Given the description of an element on the screen output the (x, y) to click on. 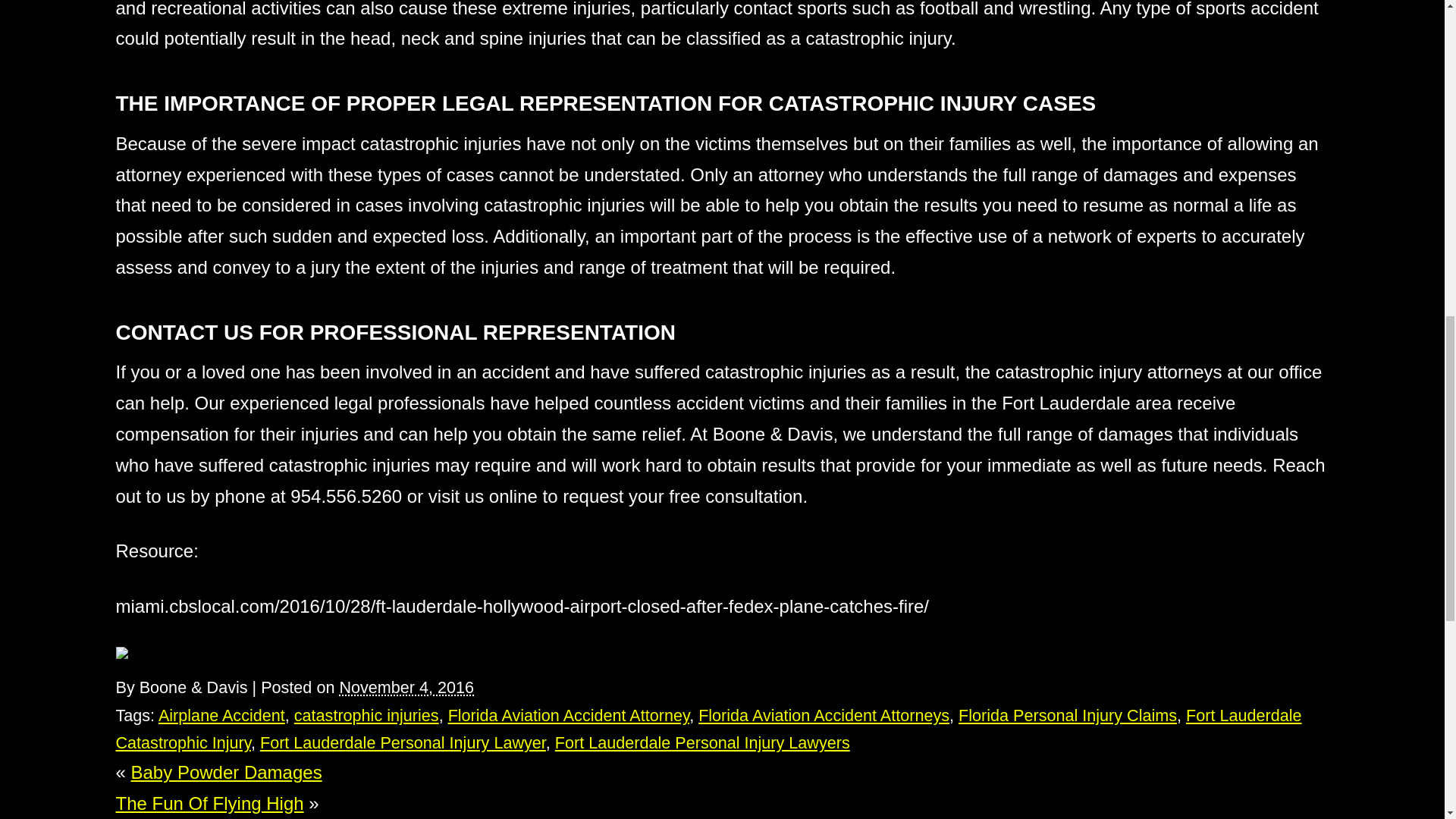
2016-11-04T07:32:41-0700 (406, 687)
LinkedIn (142, 653)
Twitter (131, 653)
Facebook (121, 653)
